Given the description of an element on the screen output the (x, y) to click on. 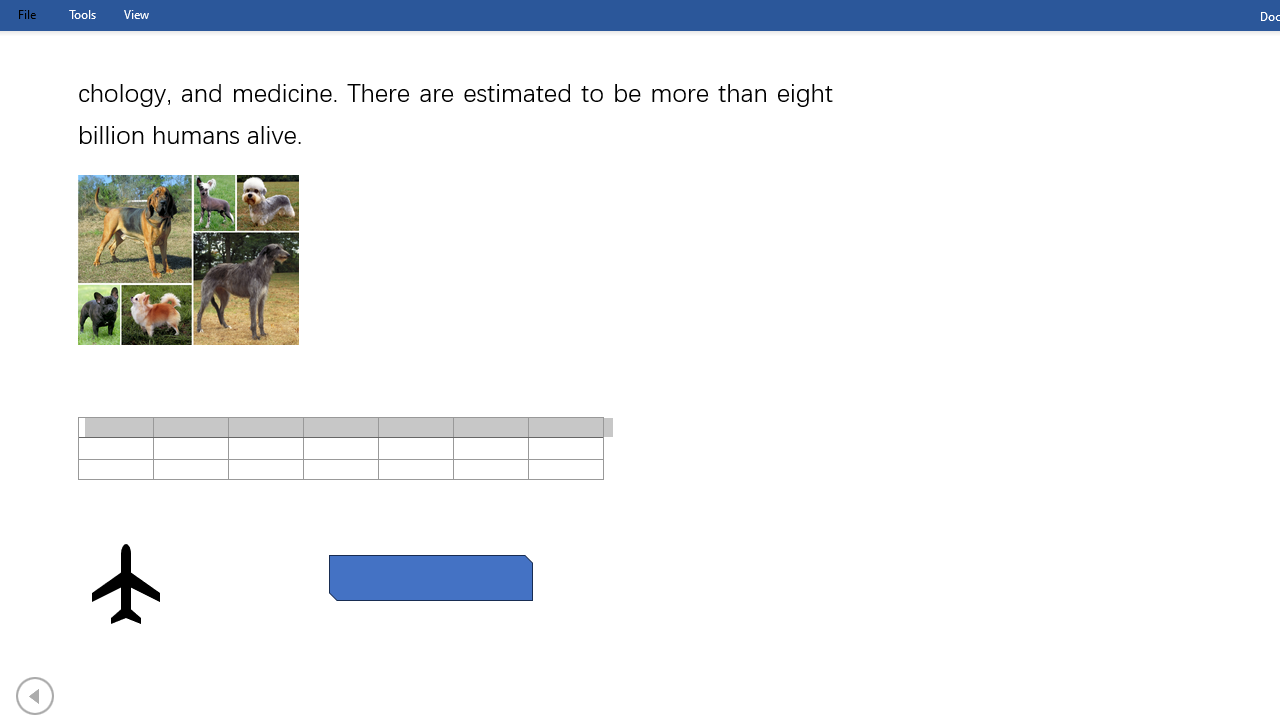
Tools (82, 14)
